Given the description of an element on the screen output the (x, y) to click on. 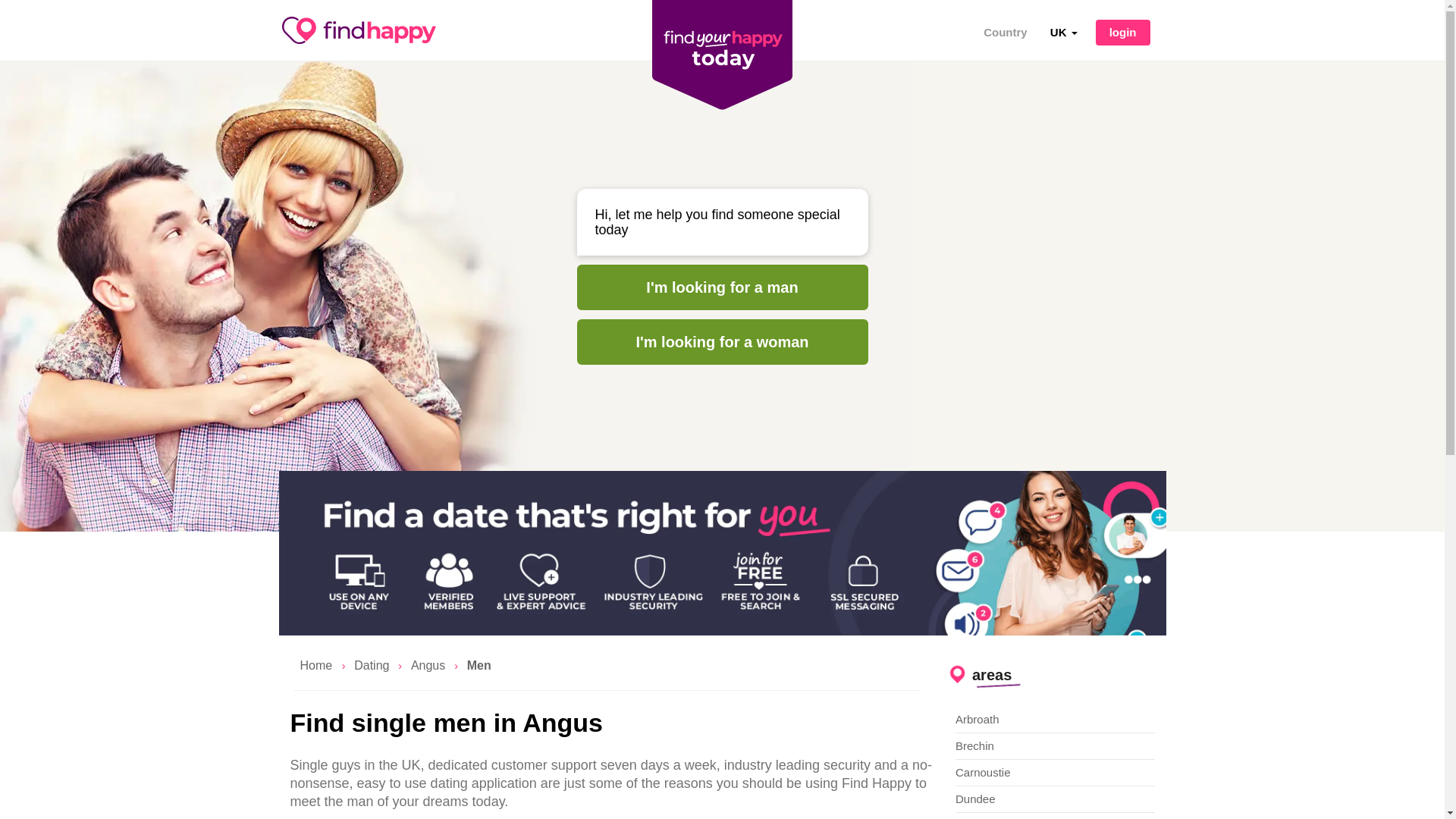
Dundee (1054, 799)
Men (479, 665)
Dating (370, 665)
Angus (427, 665)
Arbroath (1054, 719)
Single men in Arbroath (1054, 719)
Carnoustie (1054, 773)
Single men in Carnoustie (1054, 773)
Brechin (1054, 746)
Home (317, 665)
